Given the description of an element on the screen output the (x, y) to click on. 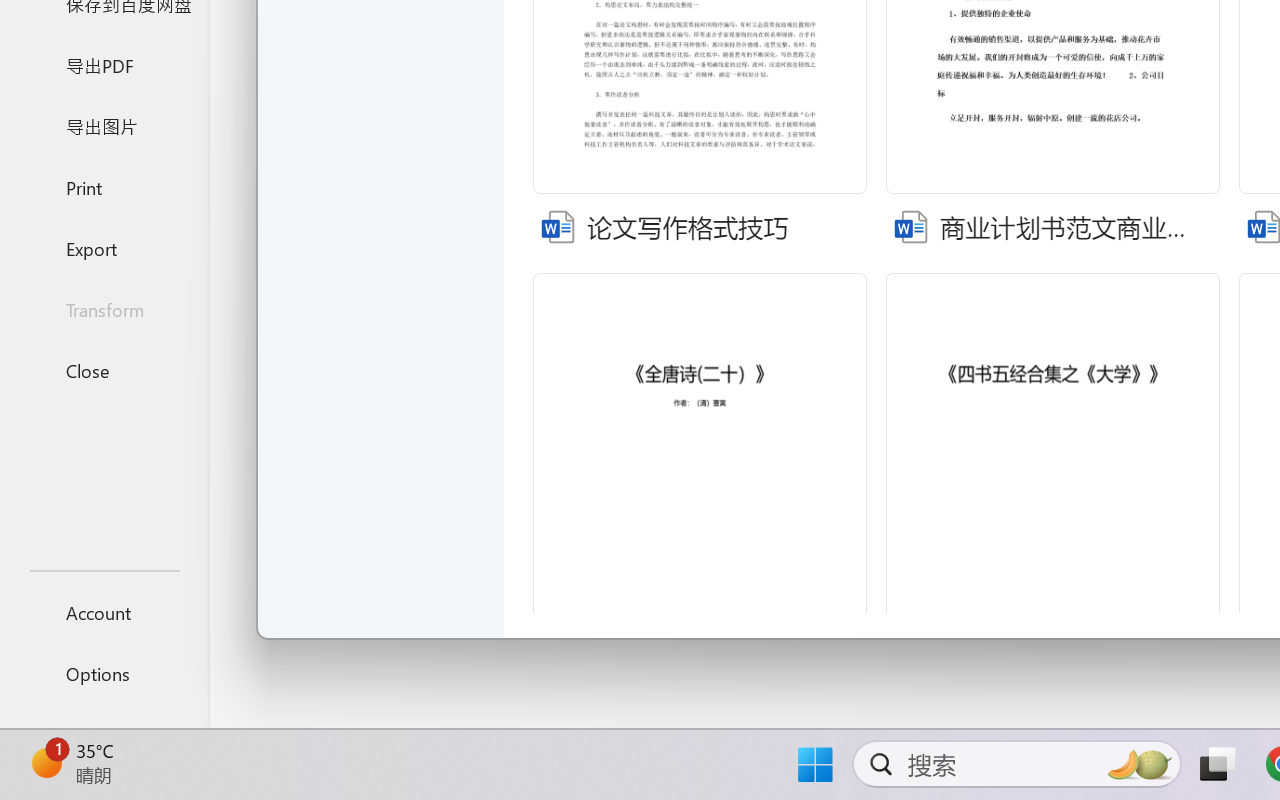
Transform (104, 309)
Class: ___510cvc0 f64fuq3 fjamq6b f11u7vat (910, 224)
Options (104, 673)
